Given the description of an element on the screen output the (x, y) to click on. 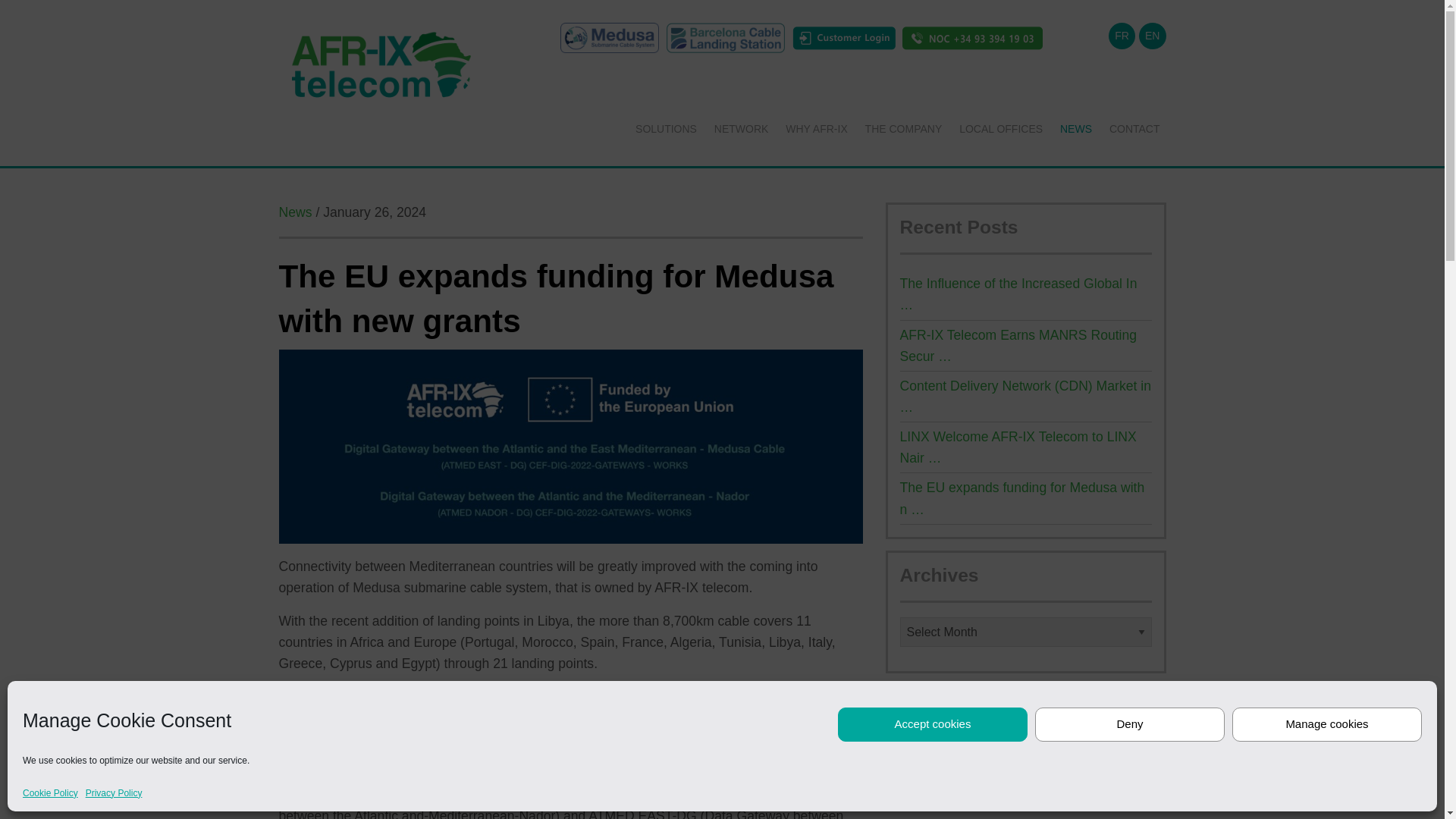
SOLUTIONS (665, 128)
NETWORK (740, 128)
WHY AFR-IX (815, 128)
THE COMPANY (904, 128)
FR (1121, 35)
LOCAL OFFICES (1000, 128)
EN (1152, 35)
